Given the description of an element on the screen output the (x, y) to click on. 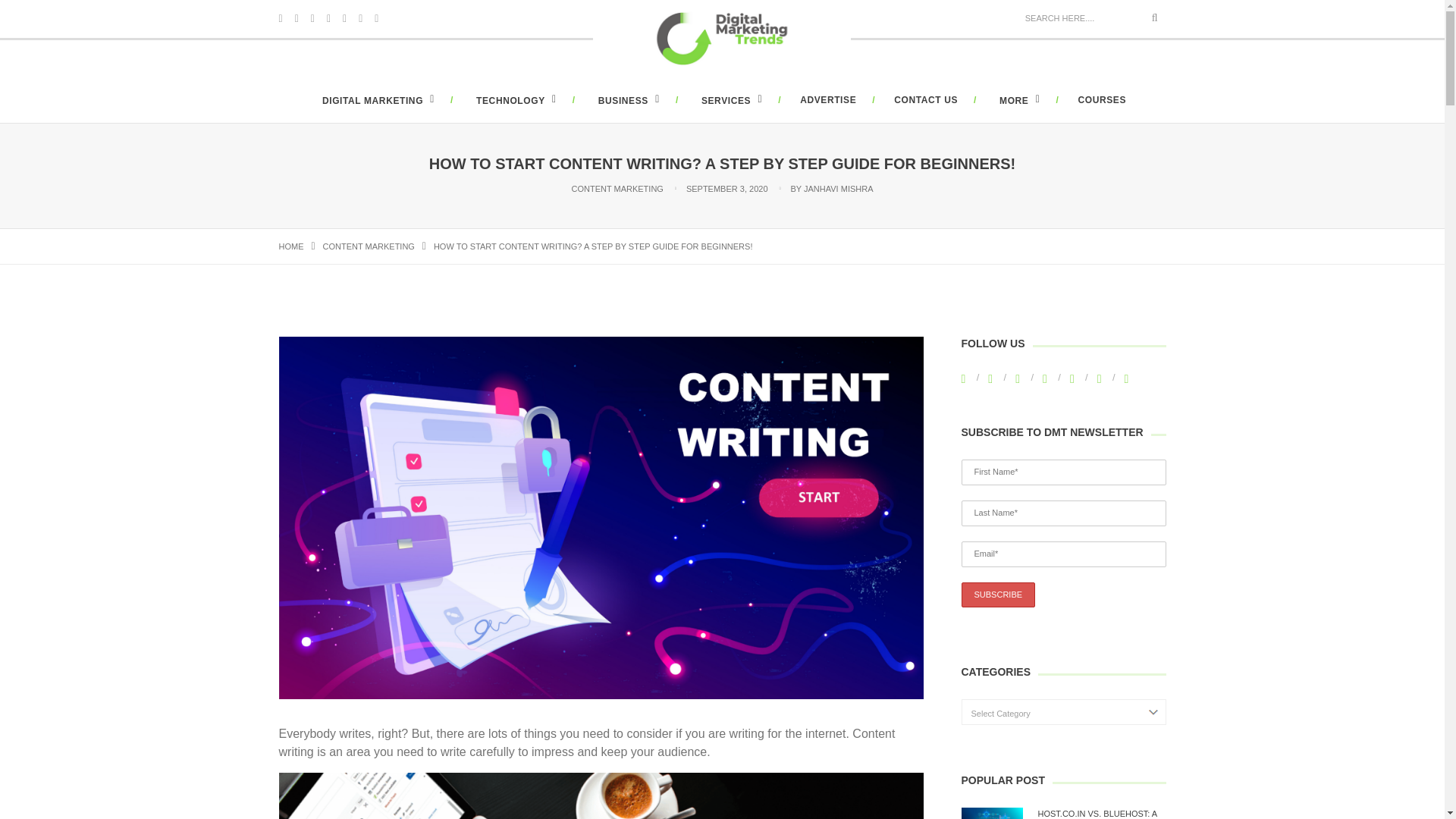
Content Marketing (368, 245)
TECHNOLOGY (513, 101)
DIGITAL MARKETING (375, 101)
SUBSCRIBE (997, 595)
Browse to: Home (291, 245)
